Given the description of an element on the screen output the (x, y) to click on. 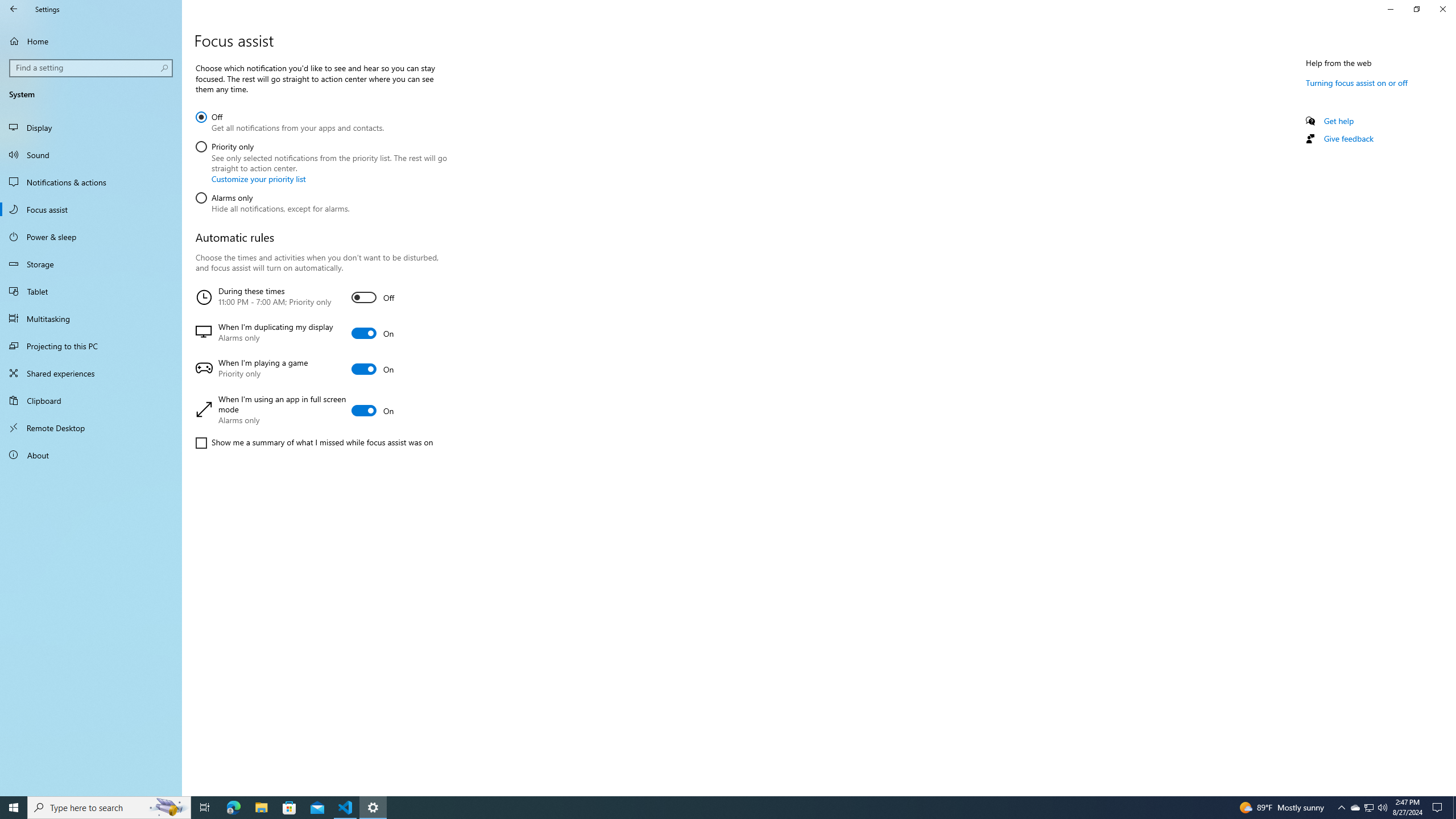
Show desktop (1454, 807)
Microsoft Edge (233, 807)
Remote Desktop (91, 427)
Restore Settings (1416, 9)
Alarms only (272, 201)
Minimize Settings (1390, 9)
